Given the description of an element on the screen output the (x, y) to click on. 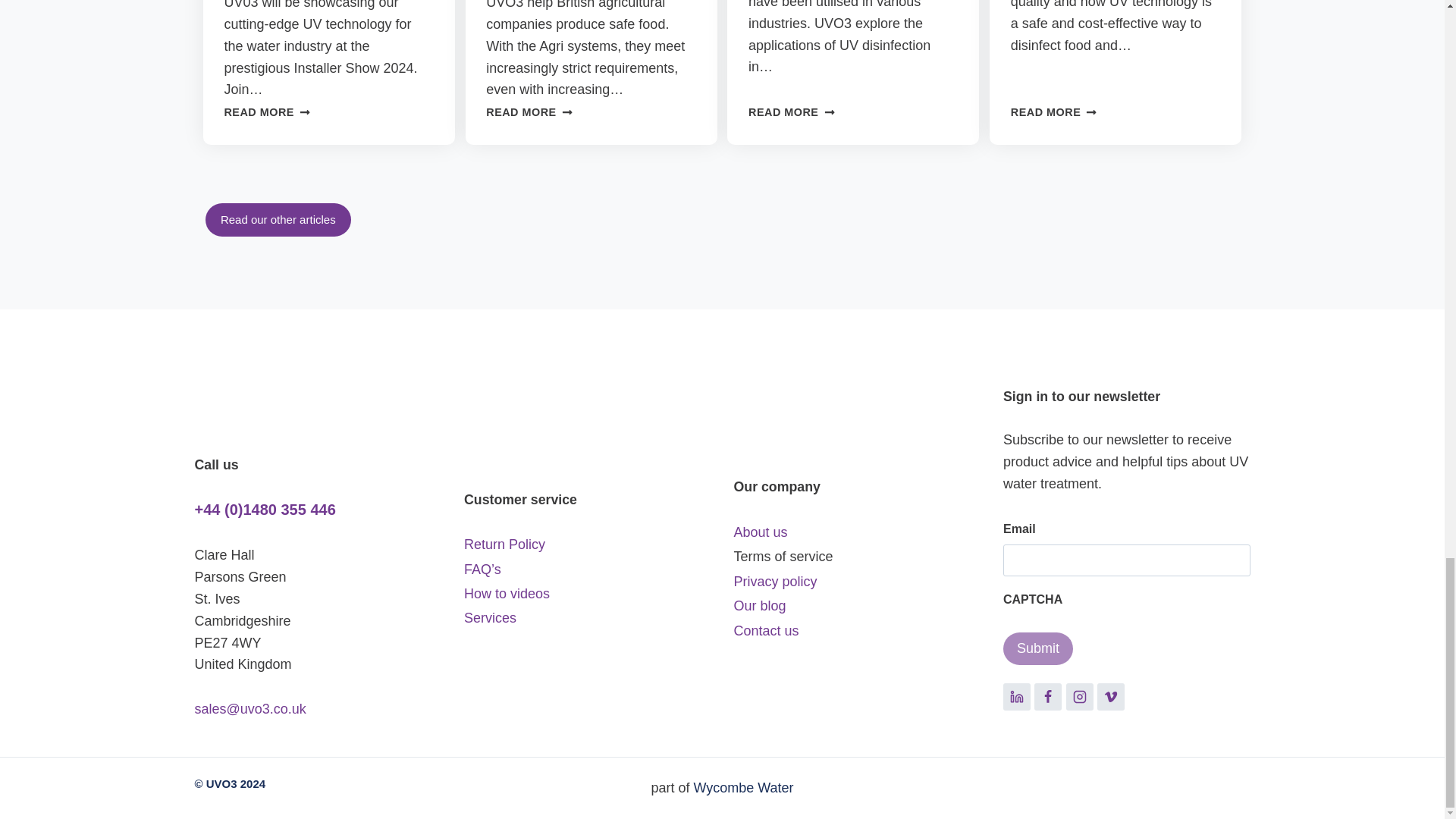
READ MORE (791, 112)
READ MORE (1053, 112)
Submit (1038, 648)
READ MORE (529, 112)
READ MORE (267, 112)
